Given the description of an element on the screen output the (x, y) to click on. 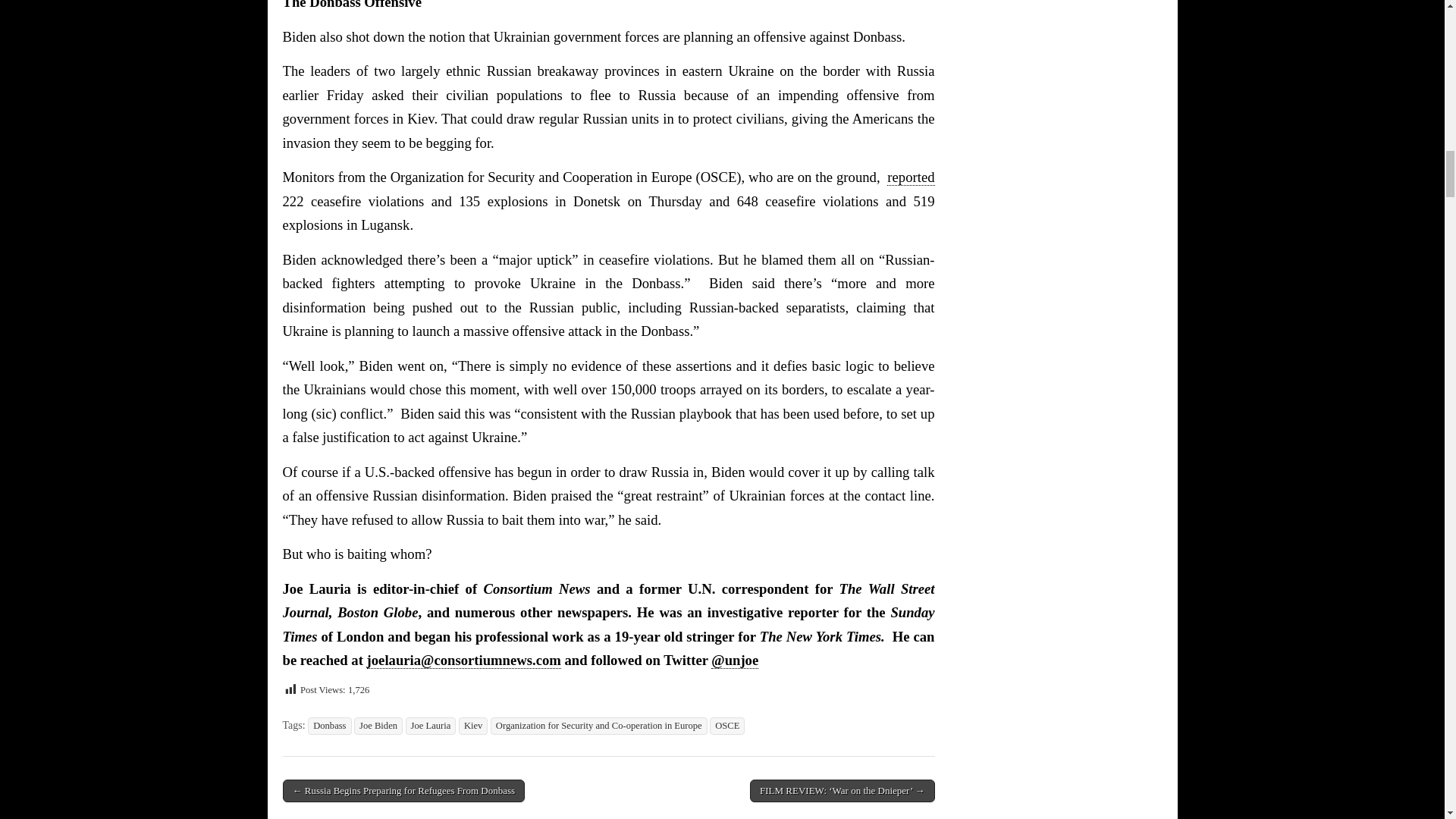
reported (910, 176)
Donbass (328, 725)
Joe Biden (378, 725)
